Given the description of an element on the screen output the (x, y) to click on. 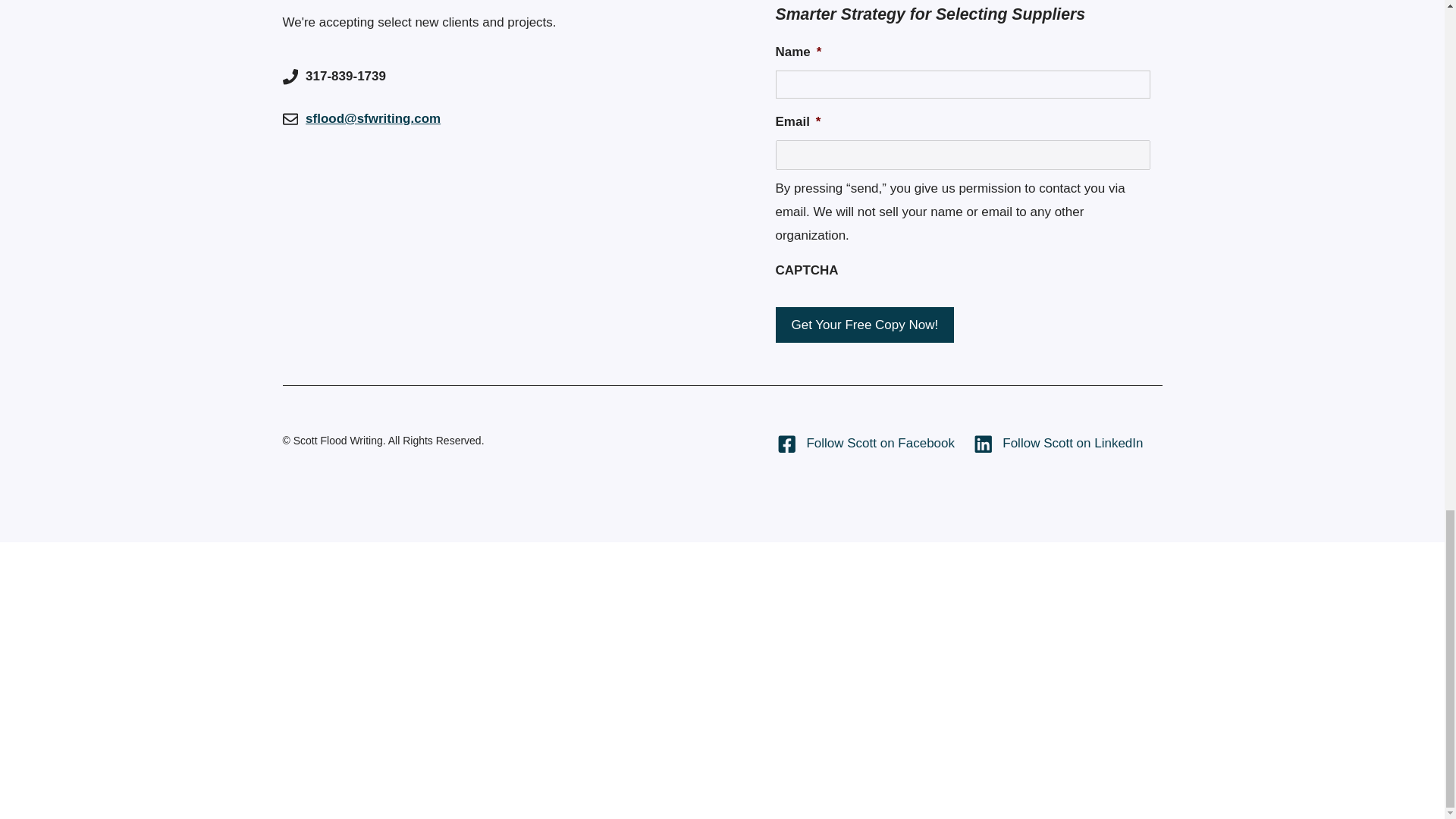
Get Your Free Copy Now! (863, 325)
Follow Scott on LinkedIn (1058, 443)
Follow Scott on Facebook (866, 443)
Get Your Free Copy Now! (863, 325)
Scroll back to top (1406, 165)
